Given the description of an element on the screen output the (x, y) to click on. 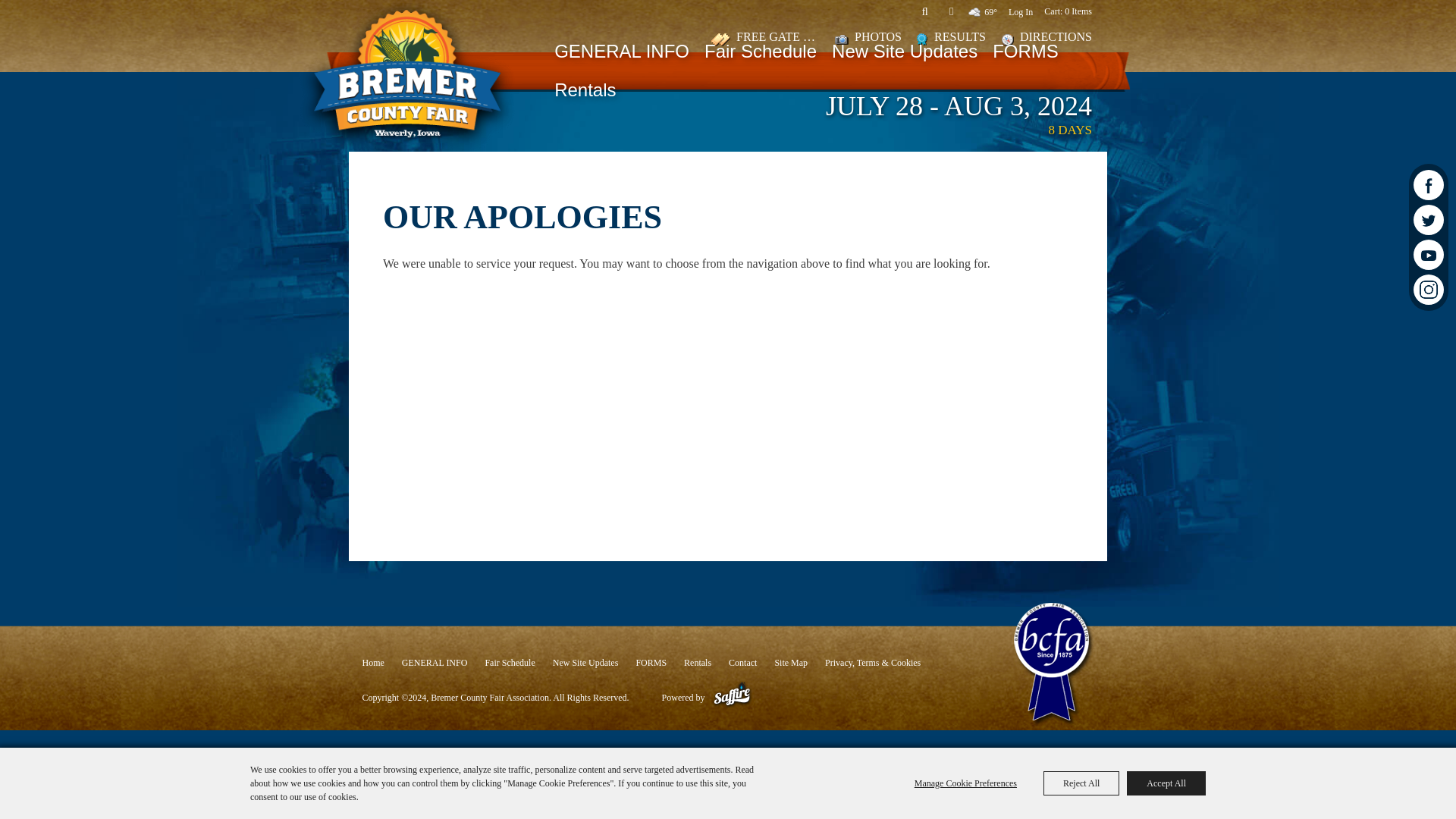
GENERAL INFO (622, 52)
Fair Schedule (760, 52)
PHOTOS (867, 39)
RESULTS (951, 39)
Get Updates (950, 11)
Log In (1020, 11)
Cart (1067, 11)
FREE GATE FAIR! (765, 39)
Search (924, 11)
0 Items (1067, 11)
DIRECTIONS (1046, 39)
